Given the description of an element on the screen output the (x, y) to click on. 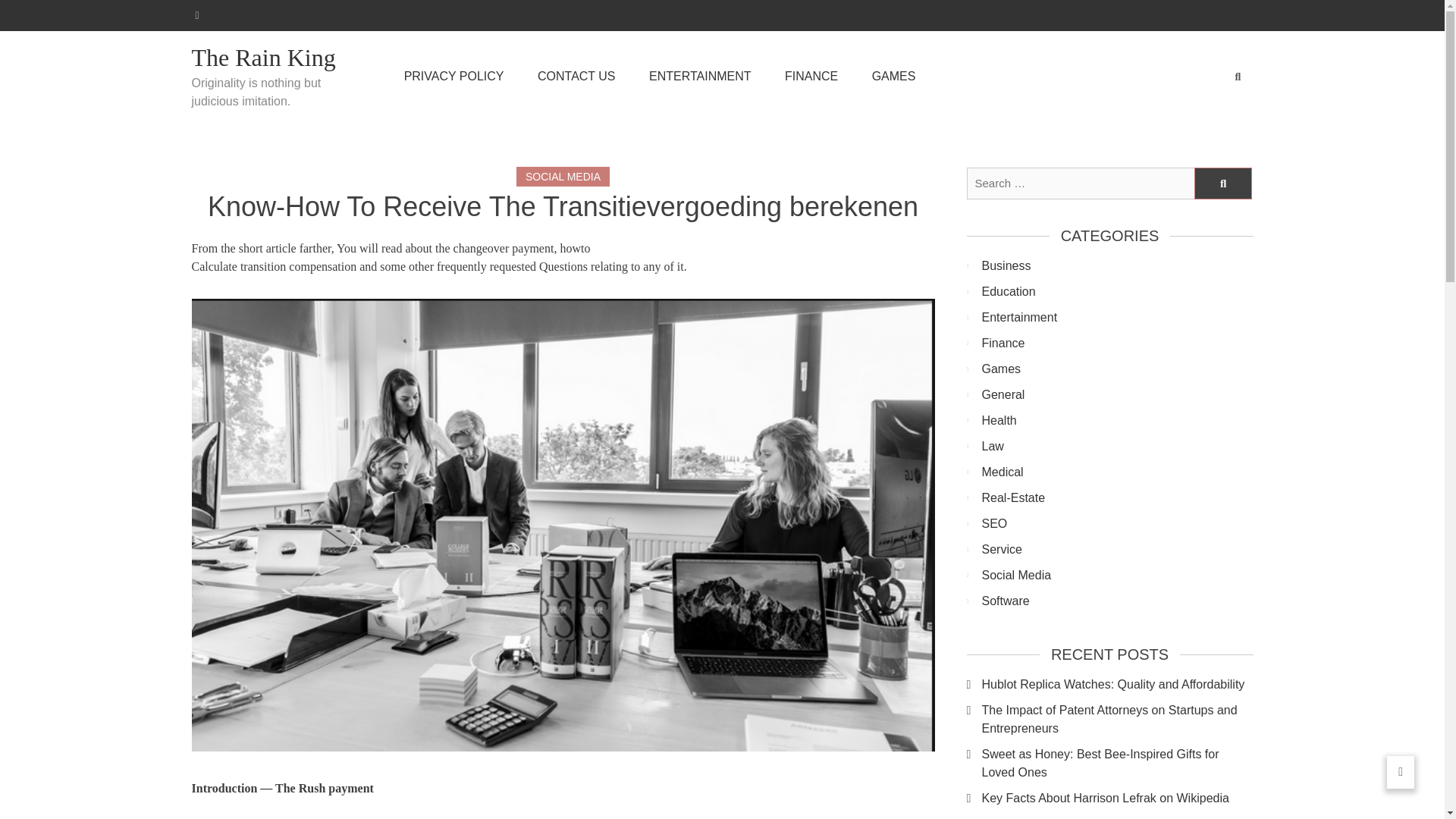
Games (1116, 369)
GAMES (893, 76)
ENTERTAINMENT (700, 76)
The Rain King (277, 58)
Entertainment (1116, 317)
Medical (1116, 472)
PRIVACY POLICY (453, 76)
Business (1116, 266)
The Impact of Patent Attorneys on Startups and Entrepreneurs (1116, 719)
Law (1116, 446)
